Given the description of an element on the screen output the (x, y) to click on. 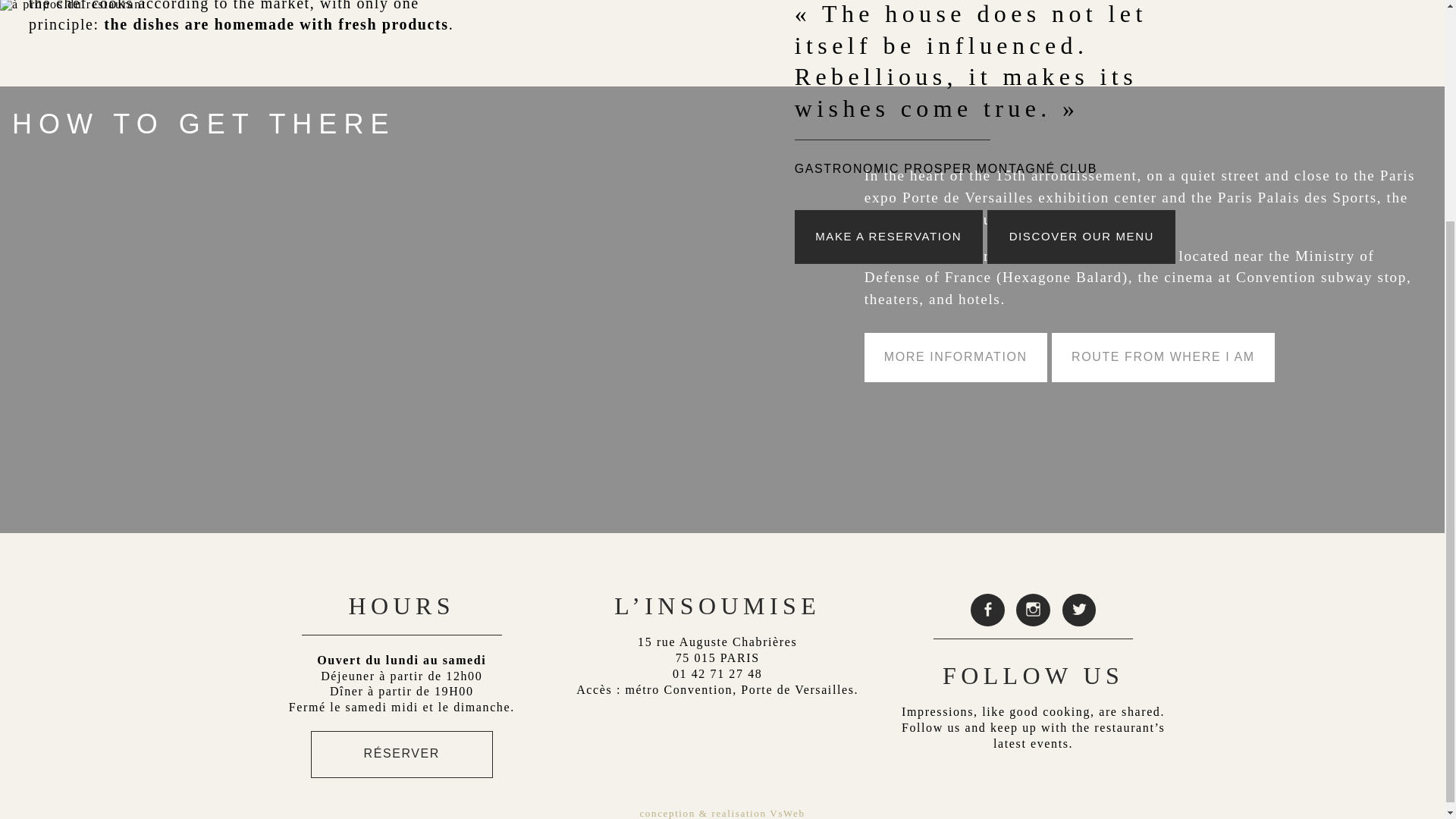
DISCOVER OUR MENU (1080, 236)
MAKE A RESERVATION (888, 236)
ROUTE FROM WHERE I AM (1163, 357)
MORE INFORMATION (955, 357)
